Given the description of an element on the screen output the (x, y) to click on. 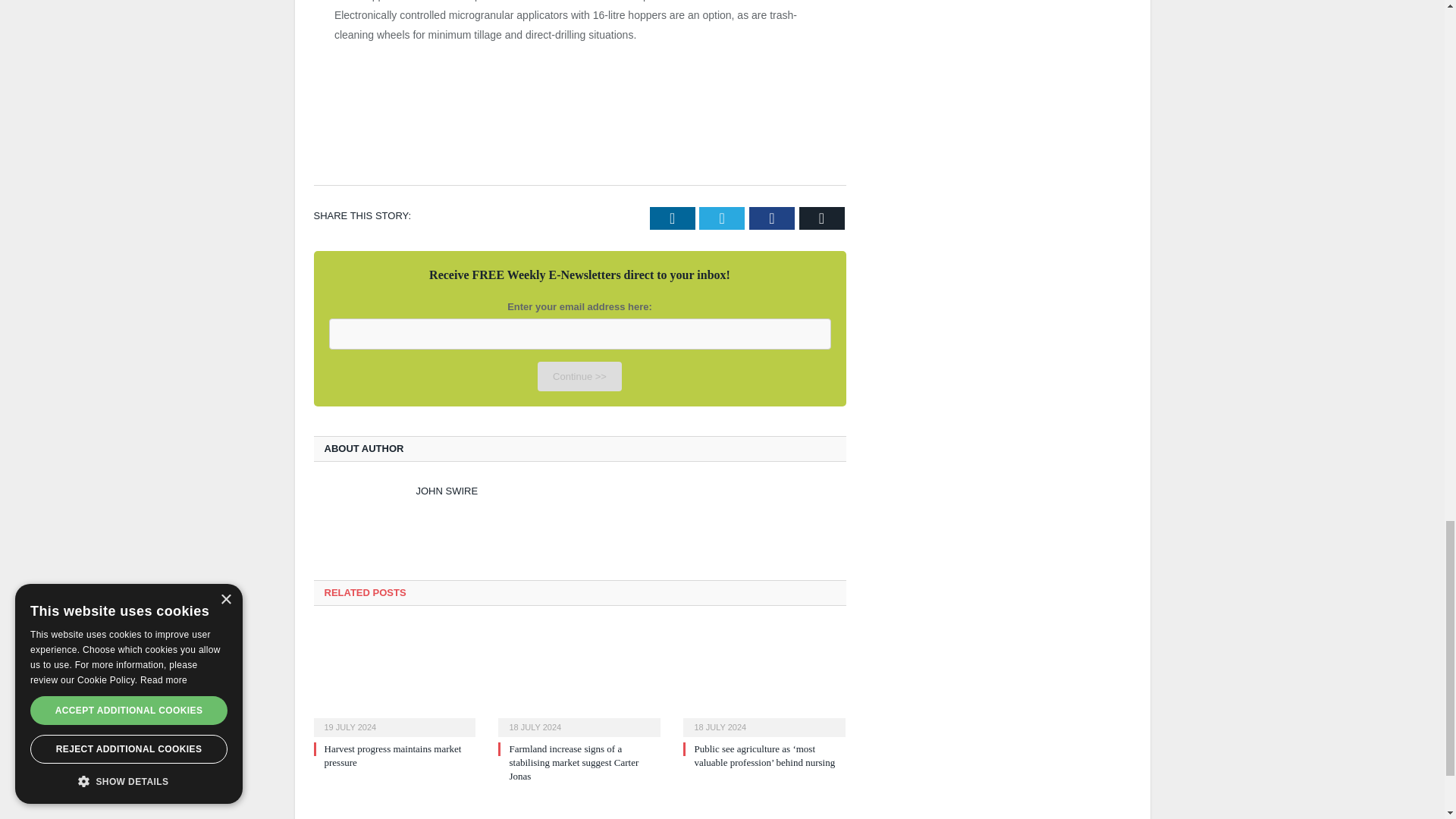
Posts by John Swire (445, 490)
